Given the description of an element on the screen output the (x, y) to click on. 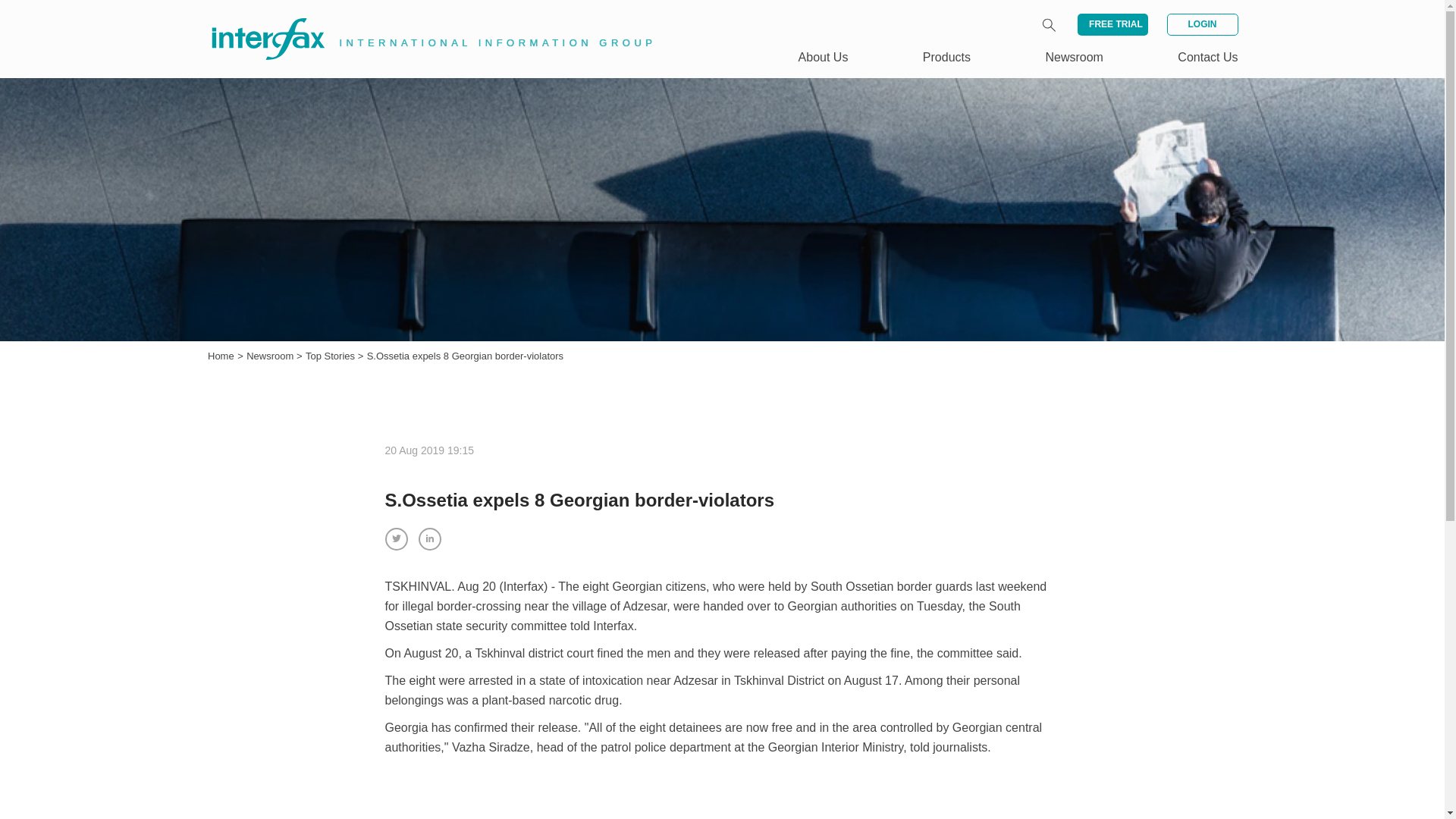
Contact Us (1207, 56)
INTERNATIONAL INFORMATION GROUP (421, 20)
Newsroom (1073, 56)
Top Stories (331, 355)
Newsroom (271, 355)
About Us (822, 56)
LOGIN (1201, 24)
Contact Us (1207, 56)
Newsroom (271, 355)
FREE TRIAL (1112, 24)
Products (947, 56)
Home (221, 355)
